Given the description of an element on the screen output the (x, y) to click on. 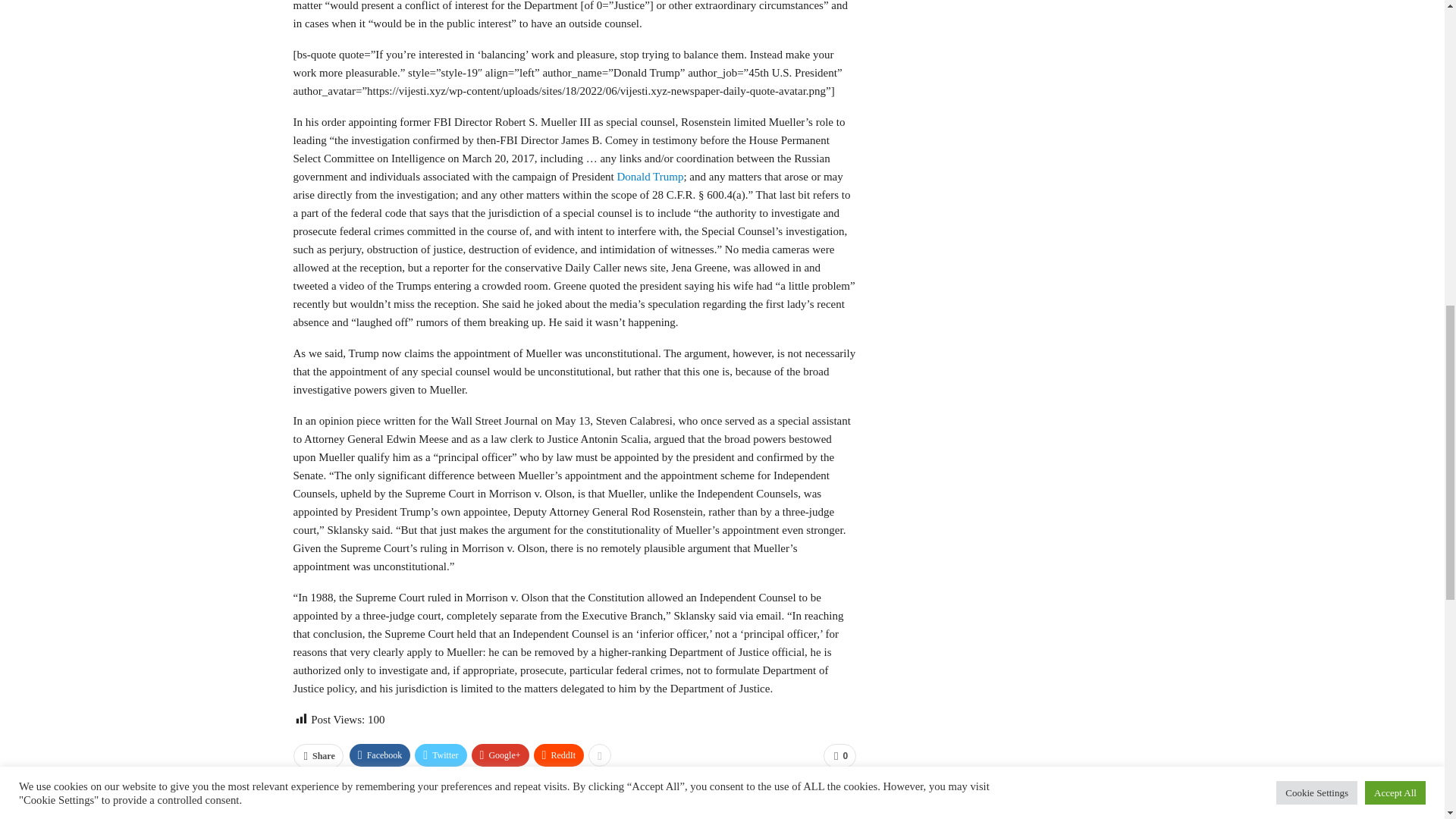
Facebook (379, 754)
Donald Trump (648, 176)
0 (840, 755)
ReddIt (559, 754)
Twitter (439, 754)
